Given the description of an element on the screen output the (x, y) to click on. 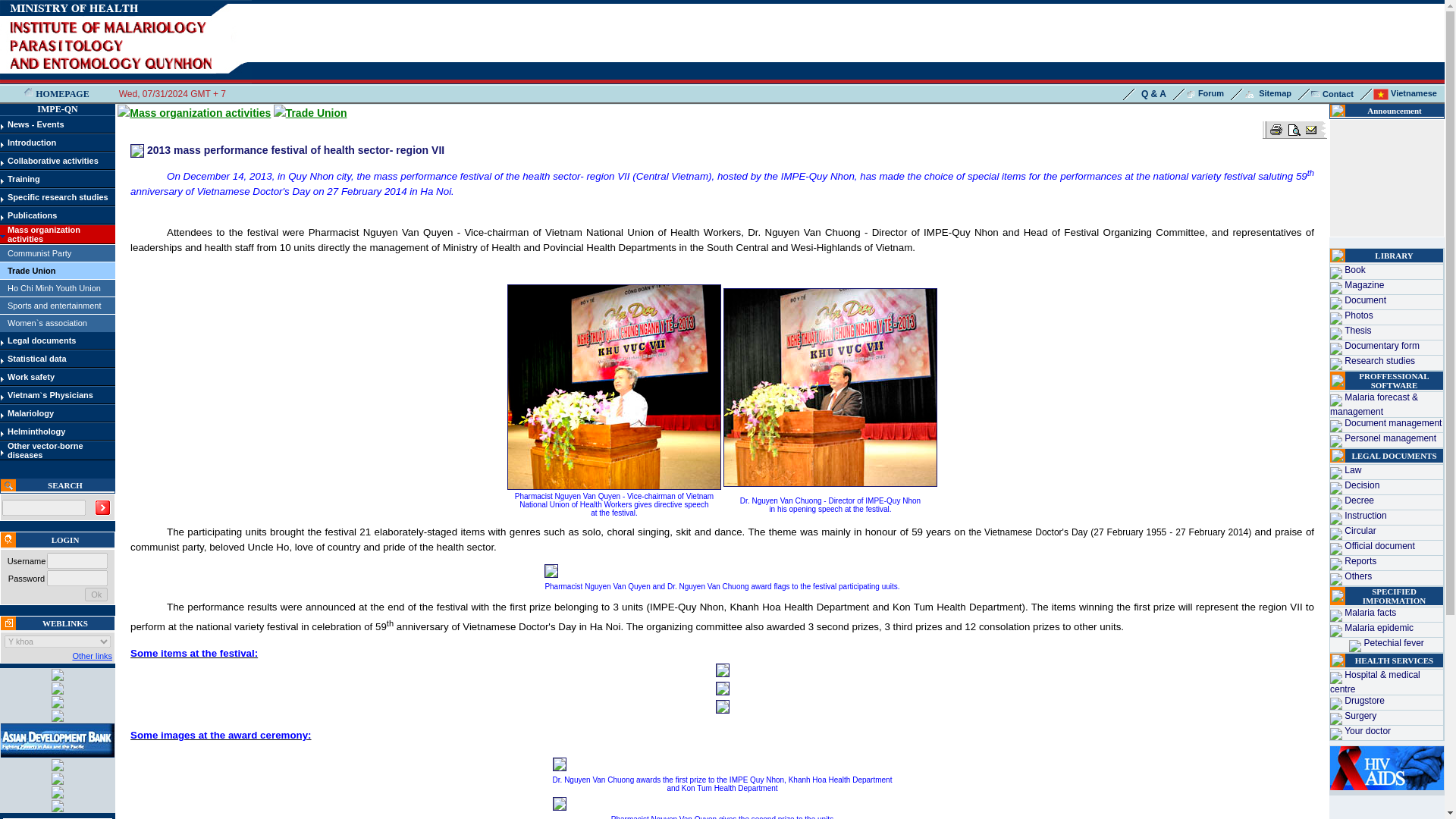
WEBLINKS (64, 623)
News - Events (35, 123)
SEARCH (65, 484)
Other links (91, 655)
Ok (95, 594)
Work safety (31, 376)
Statistical data (36, 358)
Introduction (31, 142)
Sitemap (1267, 92)
Publications (31, 215)
Mass organization activities (43, 234)
LOGIN (65, 539)
Sports and entertainment (54, 305)
Other vector-borne diseases (44, 450)
Preview (1294, 128)
